Given the description of an element on the screen output the (x, y) to click on. 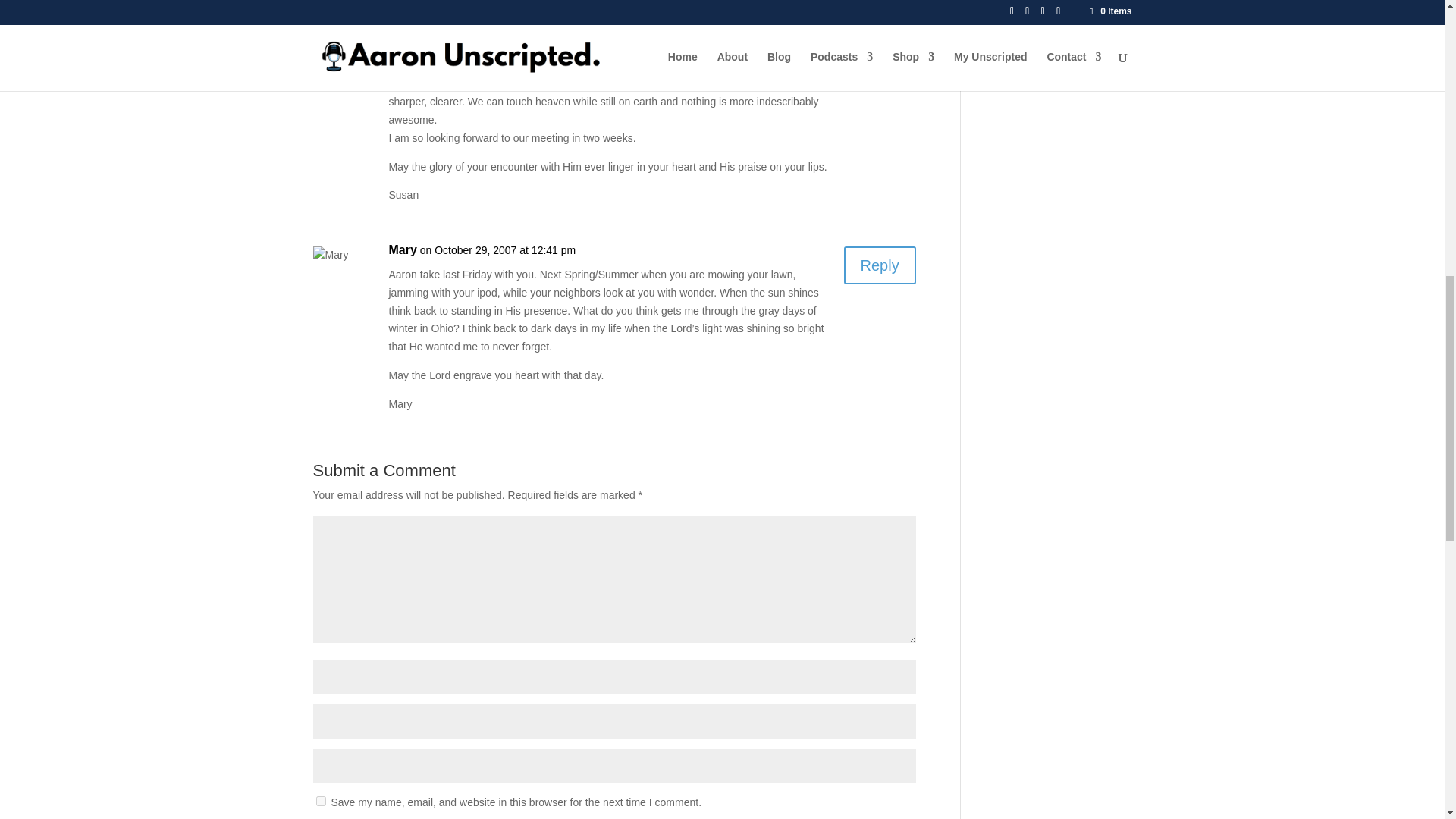
yes (319, 800)
